Given the description of an element on the screen output the (x, y) to click on. 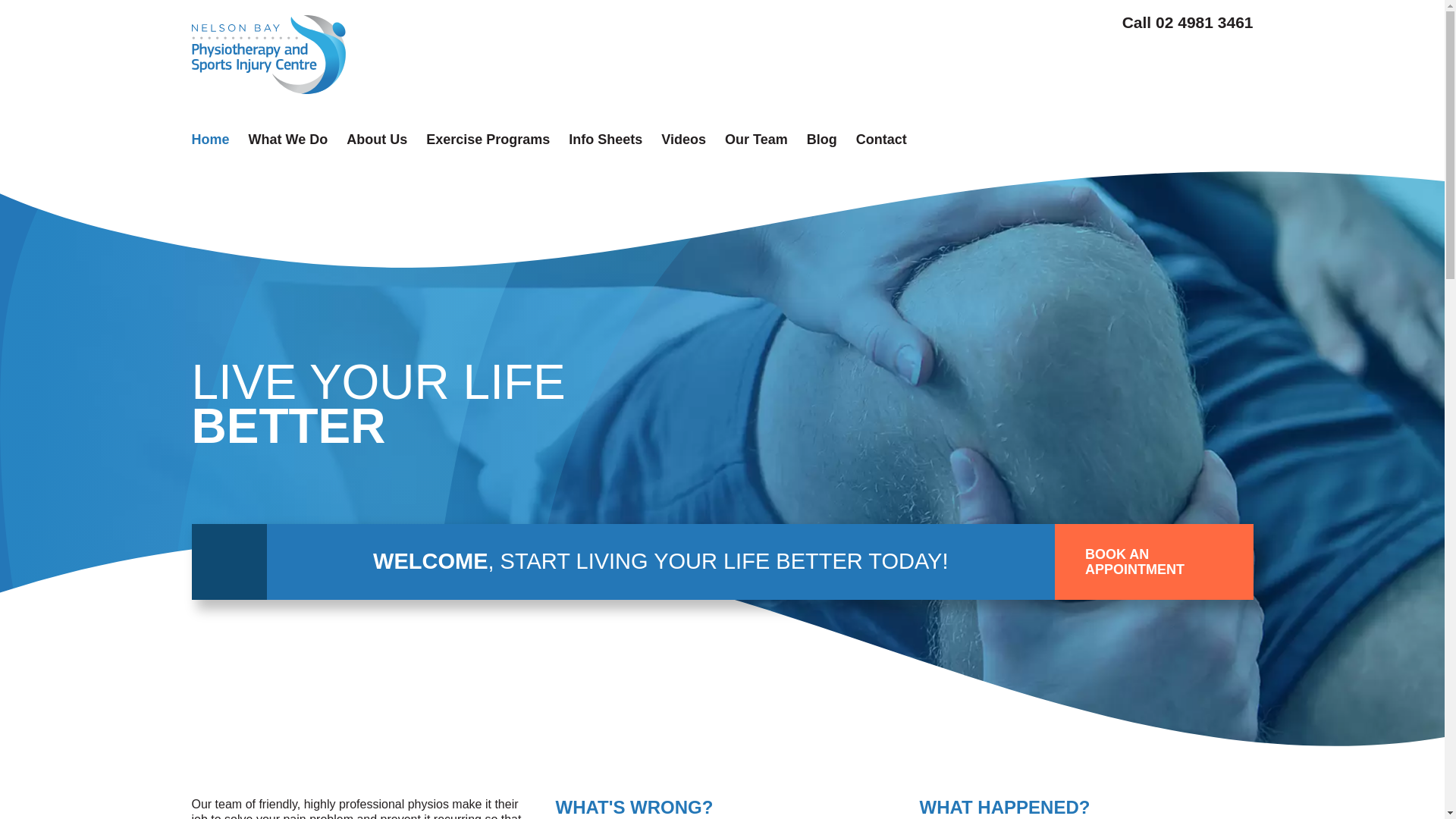
About Us Element type: text (376, 139)
Exercise Programs Element type: text (487, 139)
Blog Element type: text (821, 139)
Our Team Element type: text (755, 139)
Call 02 4981 3461 Element type: text (1187, 22)
Contact Element type: text (881, 139)
Videos Element type: text (683, 139)
Nelson Bay Physiotherapy Element type: hover (268, 54)
What We Do Element type: text (288, 139)
Home Element type: text (210, 139)
Info Sheets Element type: text (605, 139)
